Given the description of an element on the screen output the (x, y) to click on. 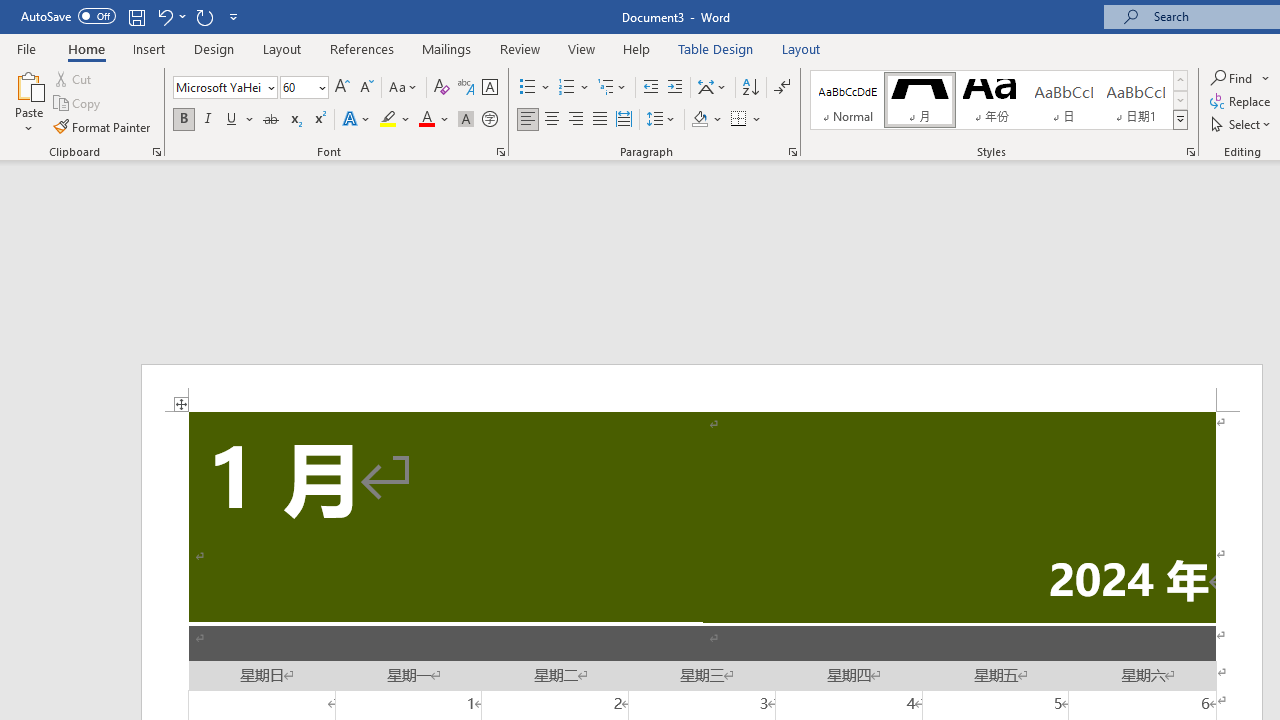
Home (86, 48)
Find (1240, 78)
Find (1233, 78)
Distributed (623, 119)
Phonetic Guide... (465, 87)
Font Color (434, 119)
Mailings (447, 48)
System (10, 11)
Quick Access Toolbar (131, 16)
Text Effects and Typography (357, 119)
Shading RGB(0, 0, 0) (699, 119)
AutomationID: QuickStylesGallery (999, 99)
Grow Font (342, 87)
Text Highlight Color Yellow (388, 119)
Office Clipboard... (156, 151)
